Given the description of an element on the screen output the (x, y) to click on. 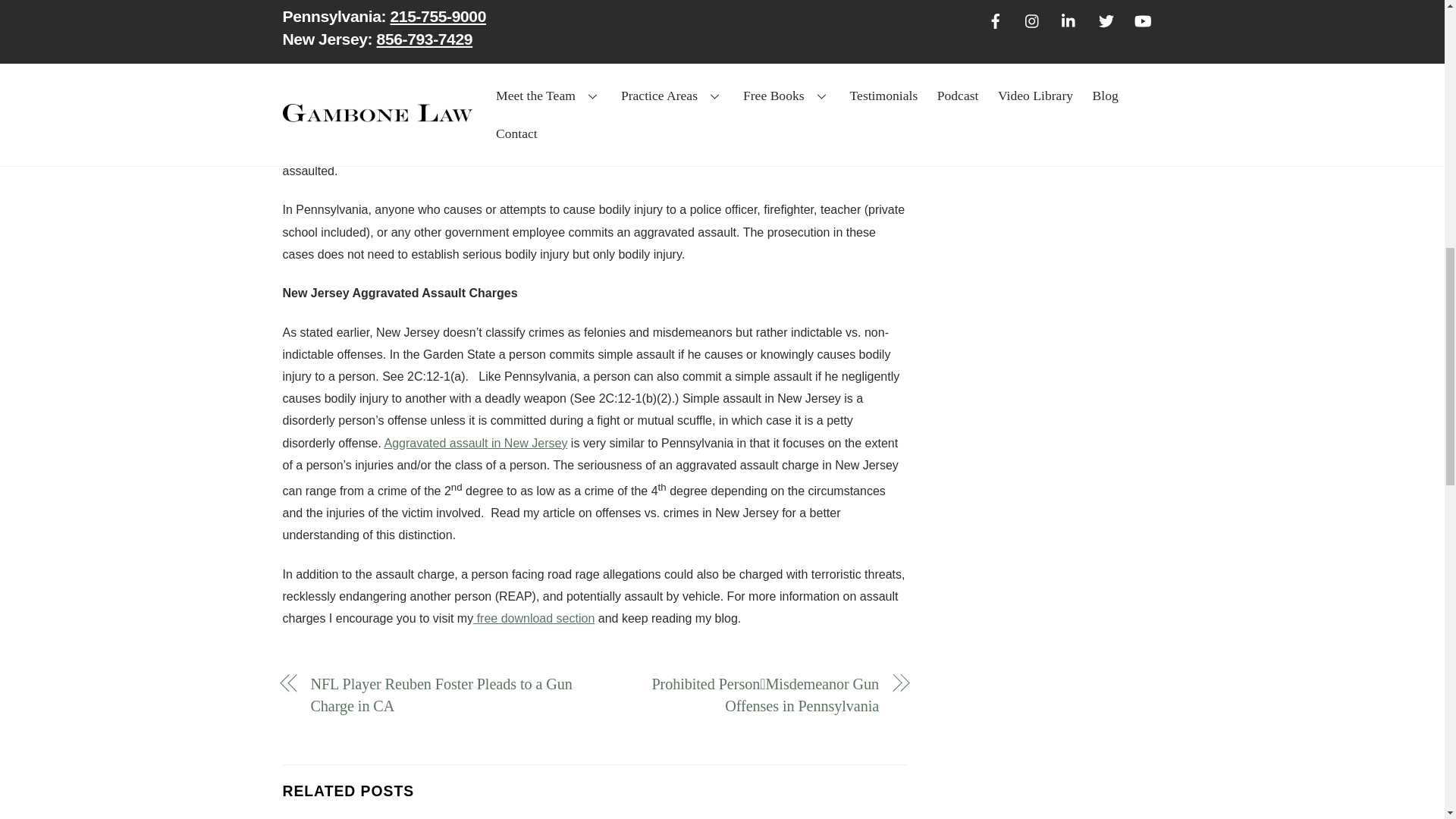
Aggravated assault in New Jersey (475, 442)
Submit (990, 105)
free download section (533, 617)
